Given the description of an element on the screen output the (x, y) to click on. 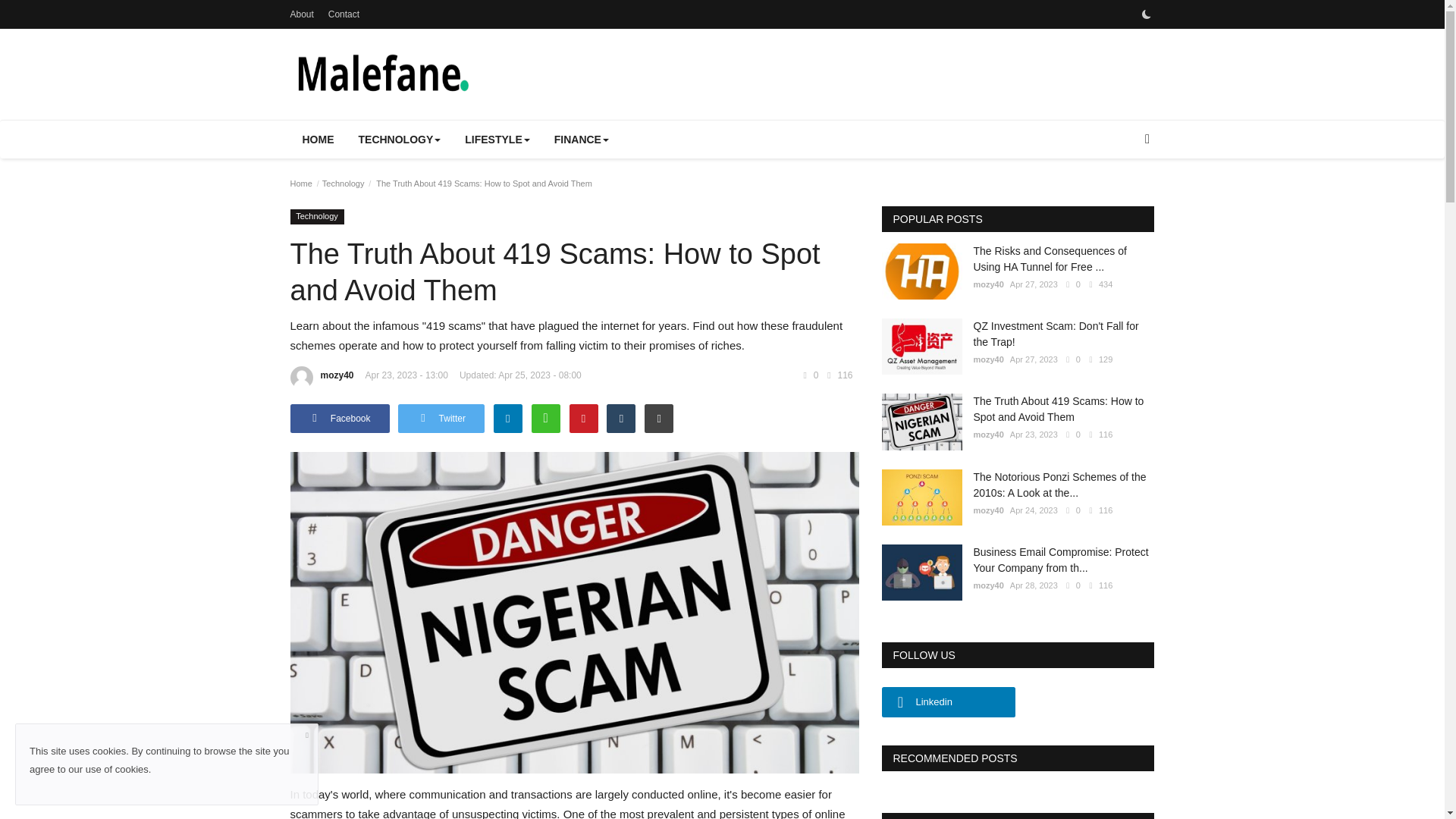
FINANCE (581, 139)
HOME (317, 139)
TECHNOLOGY (399, 139)
Contact (344, 14)
LIFESTYLE (496, 139)
About (301, 14)
dark (1145, 14)
